Given the description of an element on the screen output the (x, y) to click on. 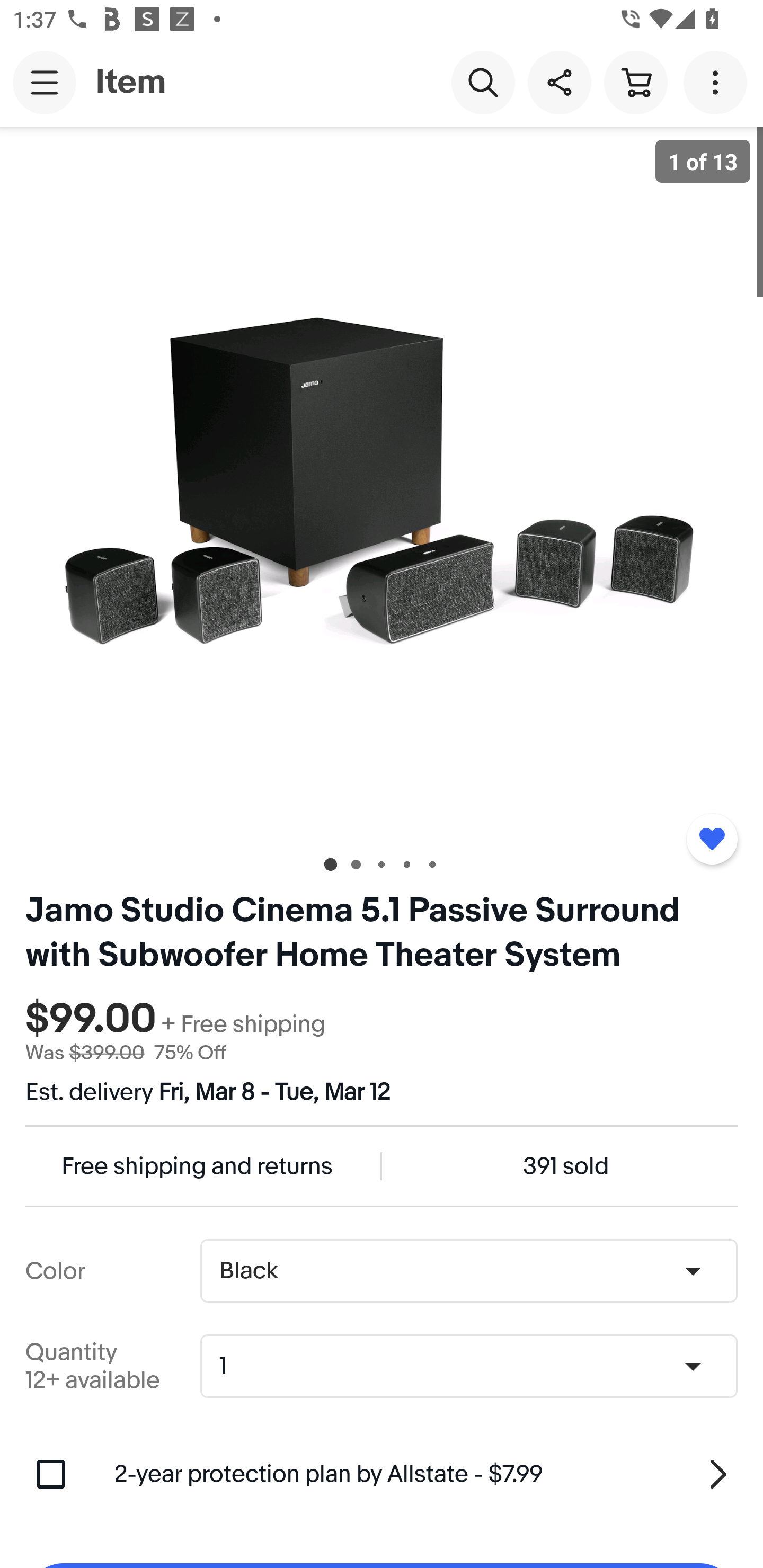
Main navigation, open (44, 82)
Search (482, 81)
Share this item (559, 81)
Cart button shopping cart (635, 81)
More options (718, 81)
Item image 1 of 13 (381, 482)
Added to watchlist (711, 838)
Color,Black Black (468, 1270)
Quantity,1,12+ available 1 (474, 1365)
2-year protection plan by Allstate - $7.99 (425, 1473)
